Given the description of an element on the screen output the (x, y) to click on. 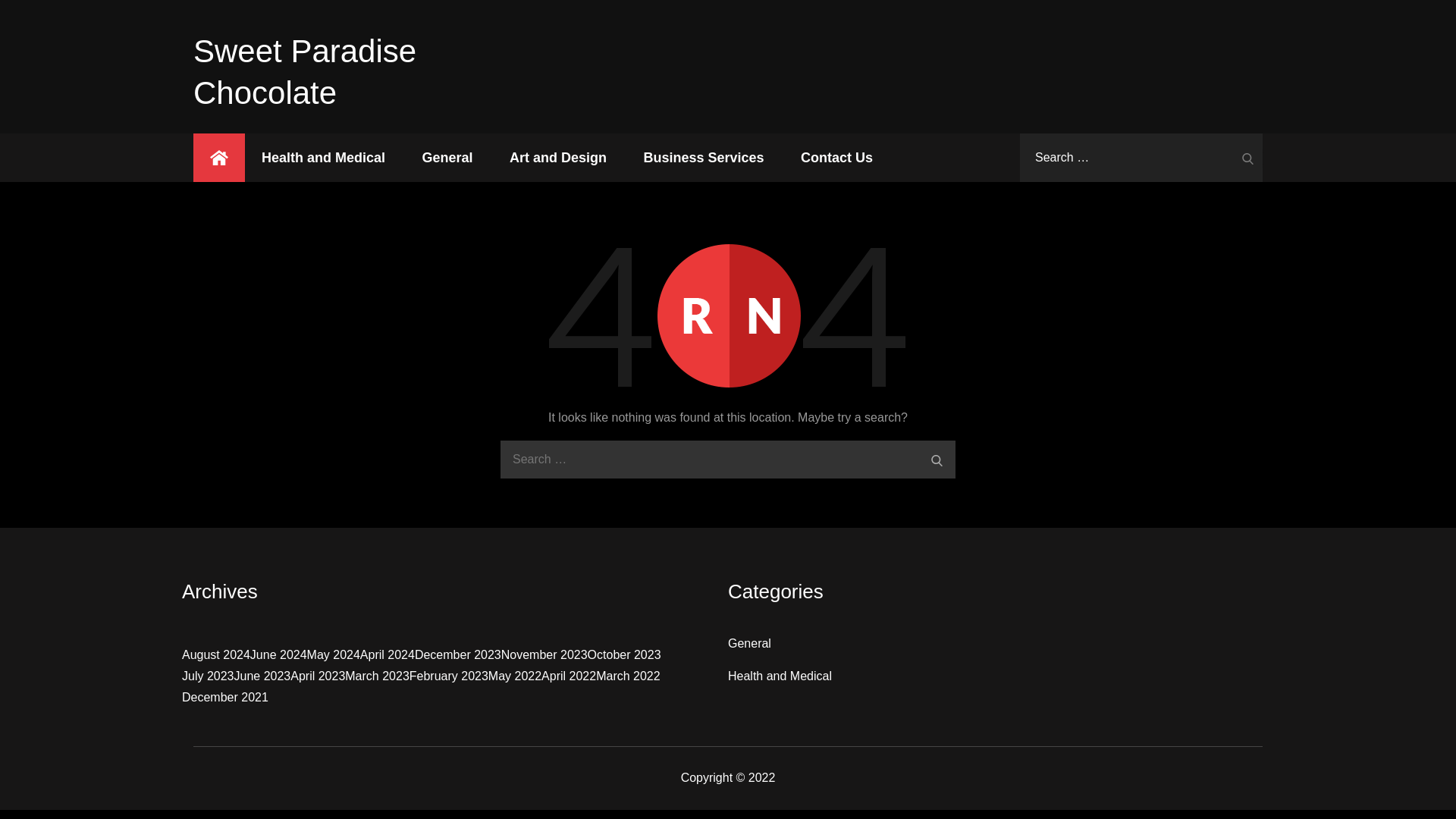
October 2023 (624, 654)
April 2023 (317, 676)
April 2022 (568, 676)
May 2024 (333, 654)
June 2024 (278, 654)
March 2023 (377, 676)
December 2021 (224, 697)
Contact Us (836, 157)
Health and Medical (322, 157)
May 2022 (514, 676)
